Given the description of an element on the screen output the (x, y) to click on. 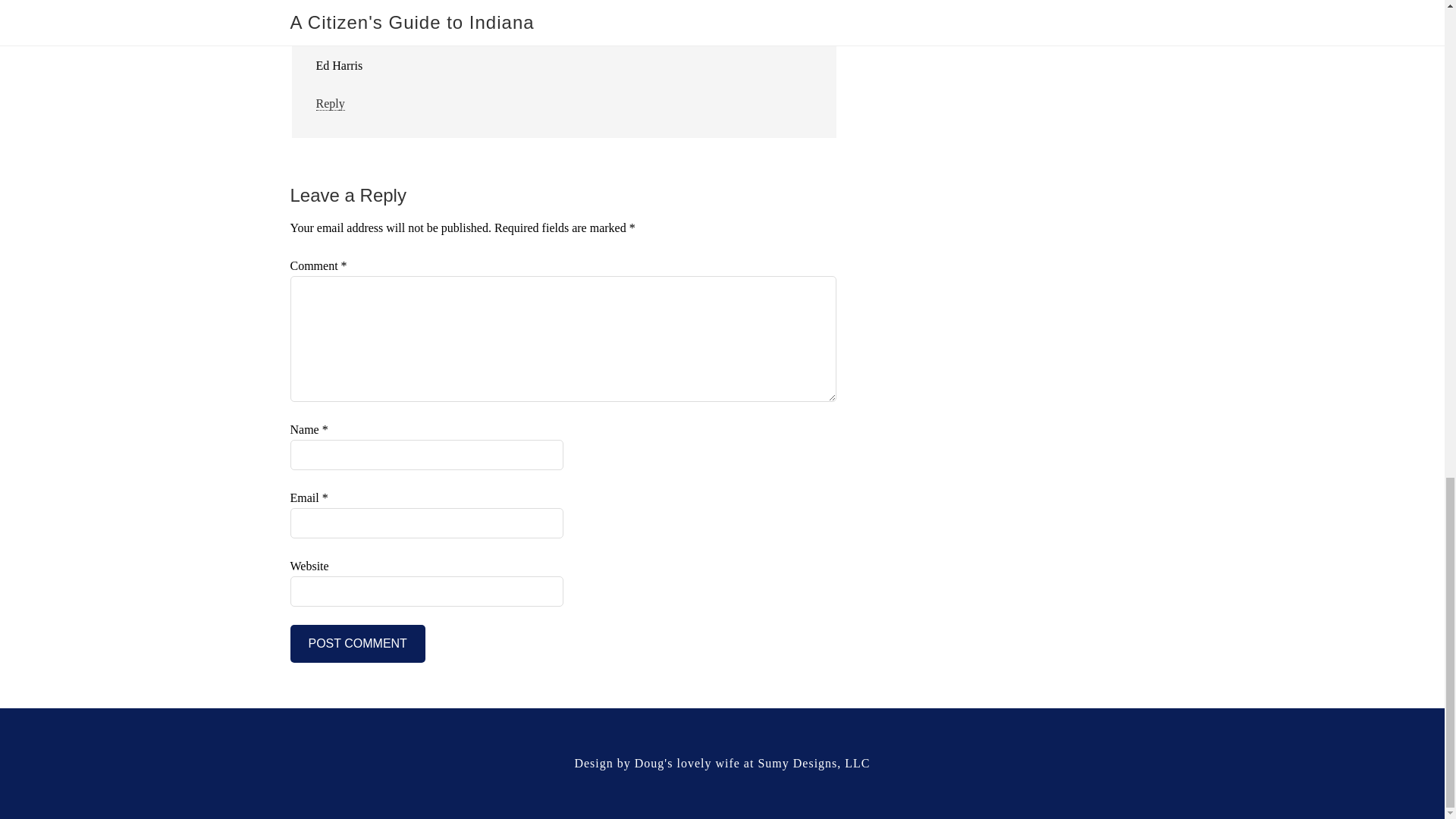
Reply (329, 103)
Sumy Designs, LLC (813, 762)
Post Comment (357, 643)
Post Comment (357, 643)
